Given the description of an element on the screen output the (x, y) to click on. 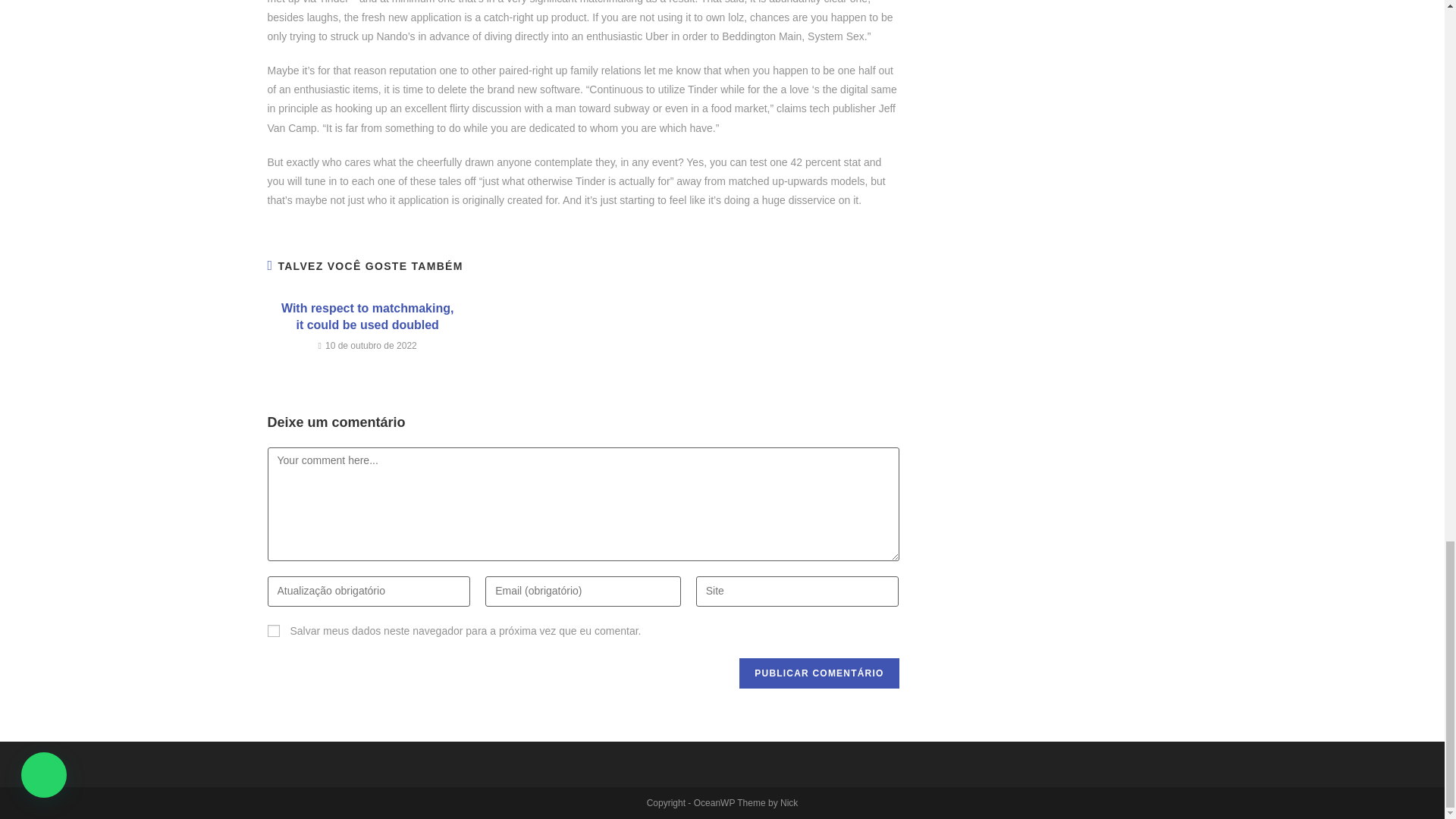
With respect to matchmaking, it could be used doubled (367, 317)
With respect to matchmaking, it could be used doubled (367, 317)
yes (272, 630)
